Given the description of an element on the screen output the (x, y) to click on. 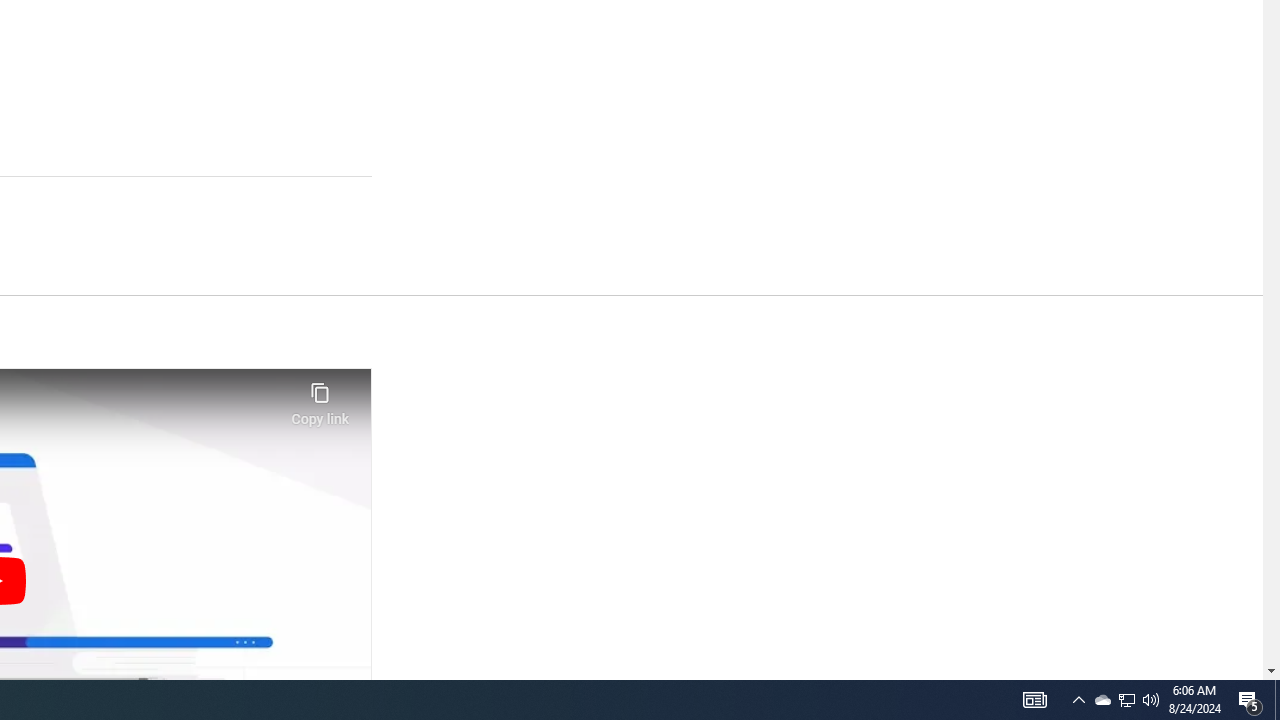
Copy link (319, 398)
